Given the description of an element on the screen output the (x, y) to click on. 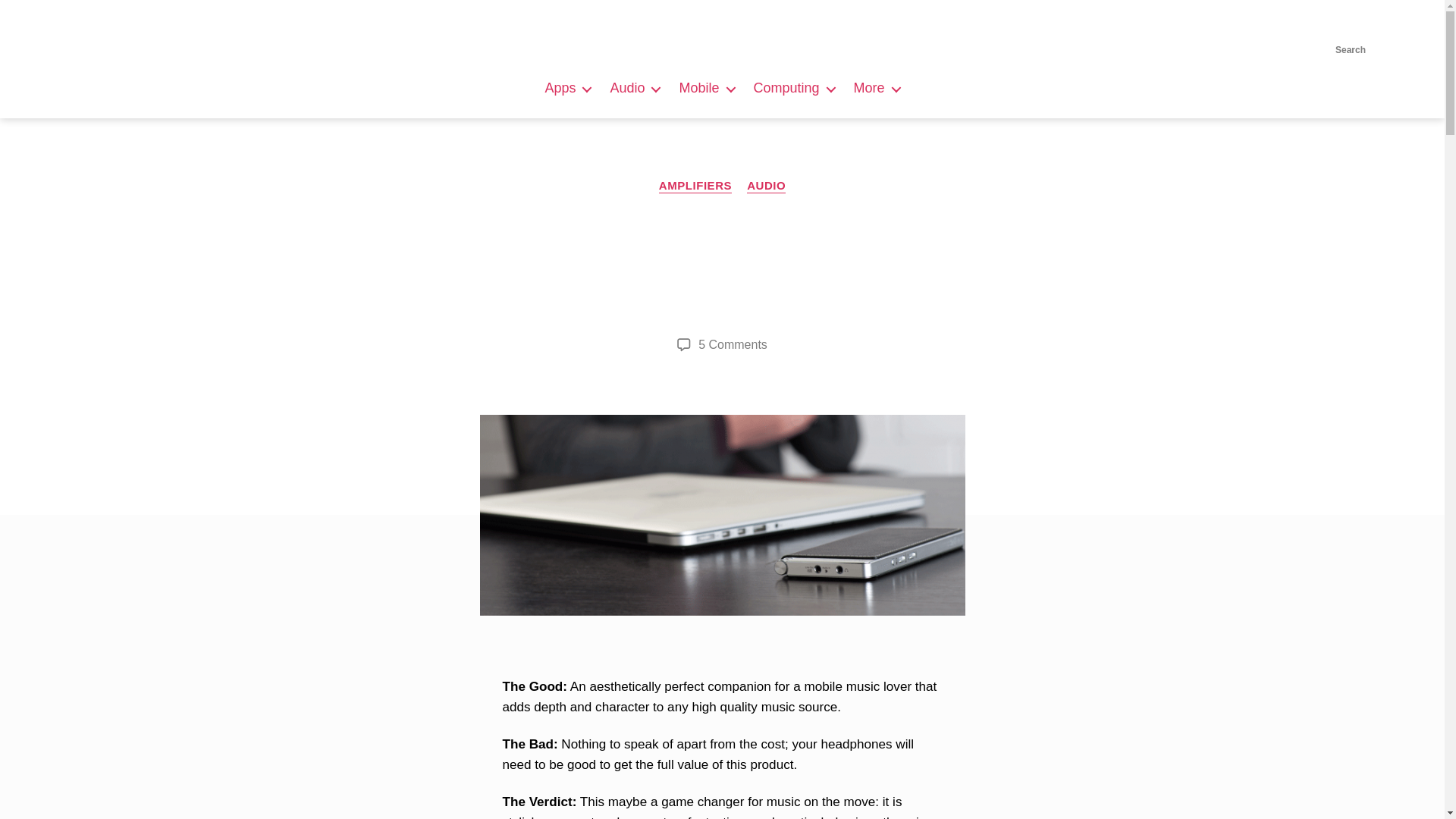
More (876, 88)
Computing (794, 88)
Apps (567, 88)
Audio (634, 88)
Mobile (705, 88)
Search (1350, 29)
